Given the description of an element on the screen output the (x, y) to click on. 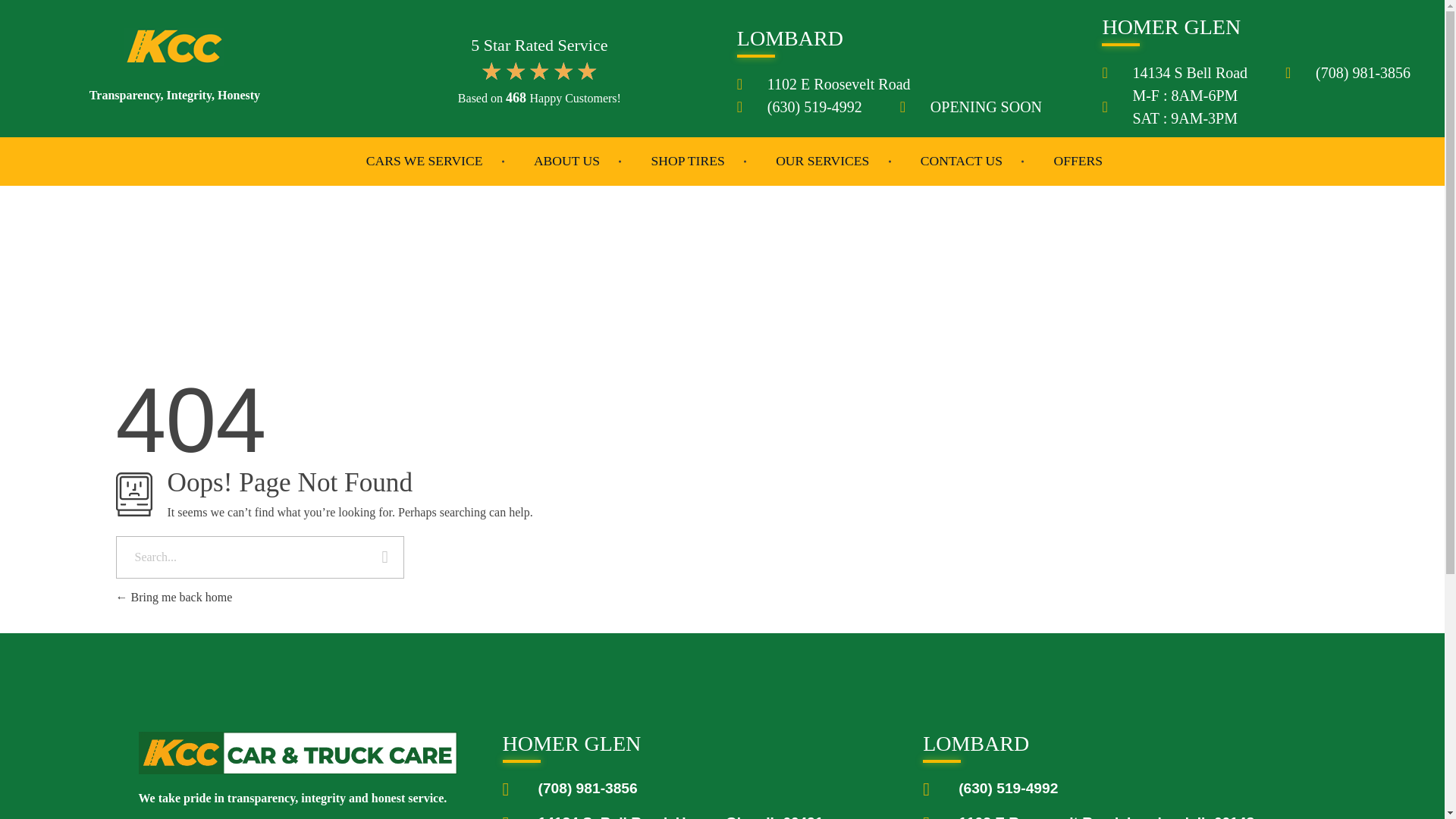
1102 E Roosevelt Road (823, 83)
14134 S Bell Road (1174, 72)
